Given the description of an element on the screen output the (x, y) to click on. 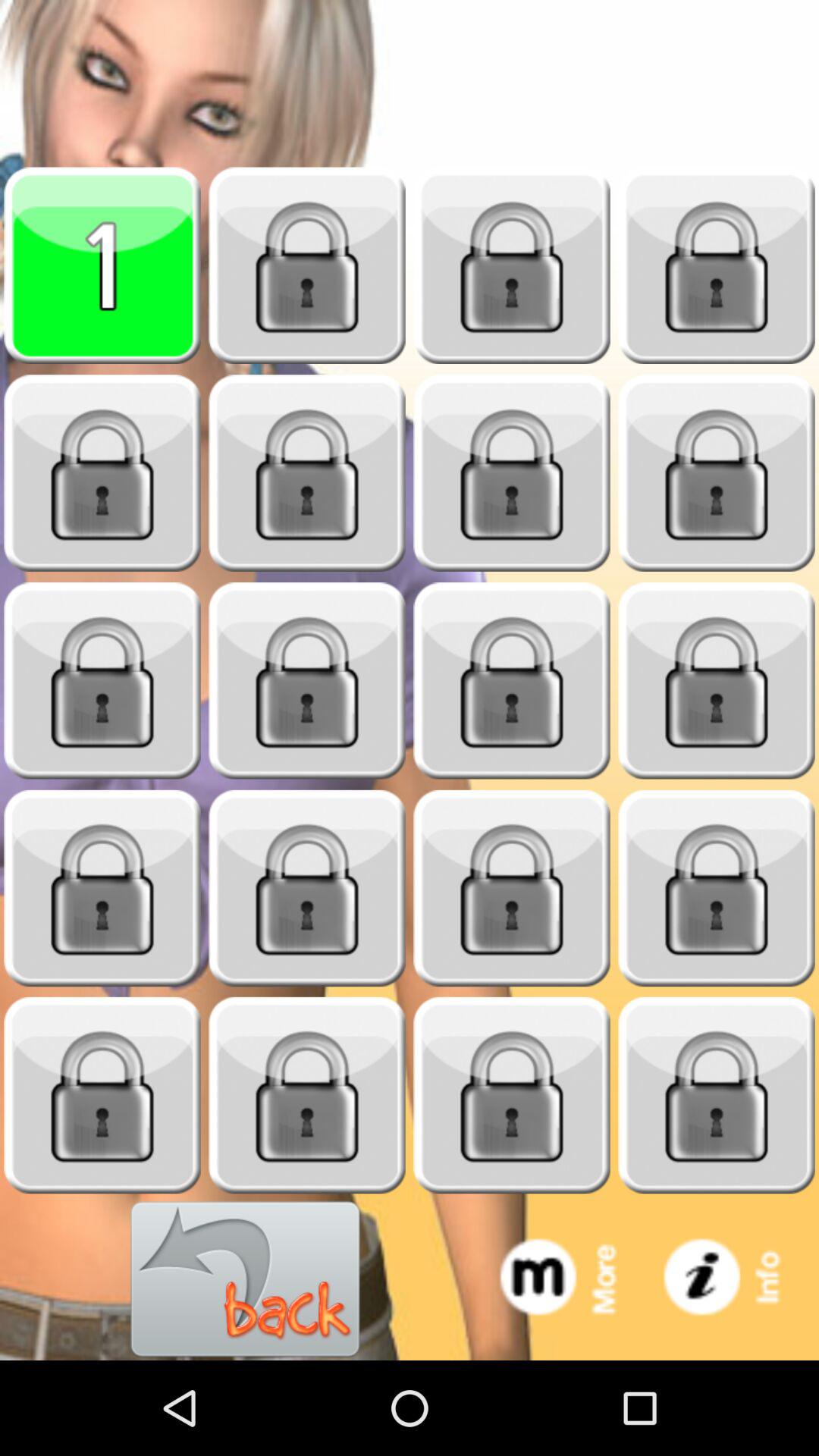
select the option (511, 887)
